Given the description of an element on the screen output the (x, y) to click on. 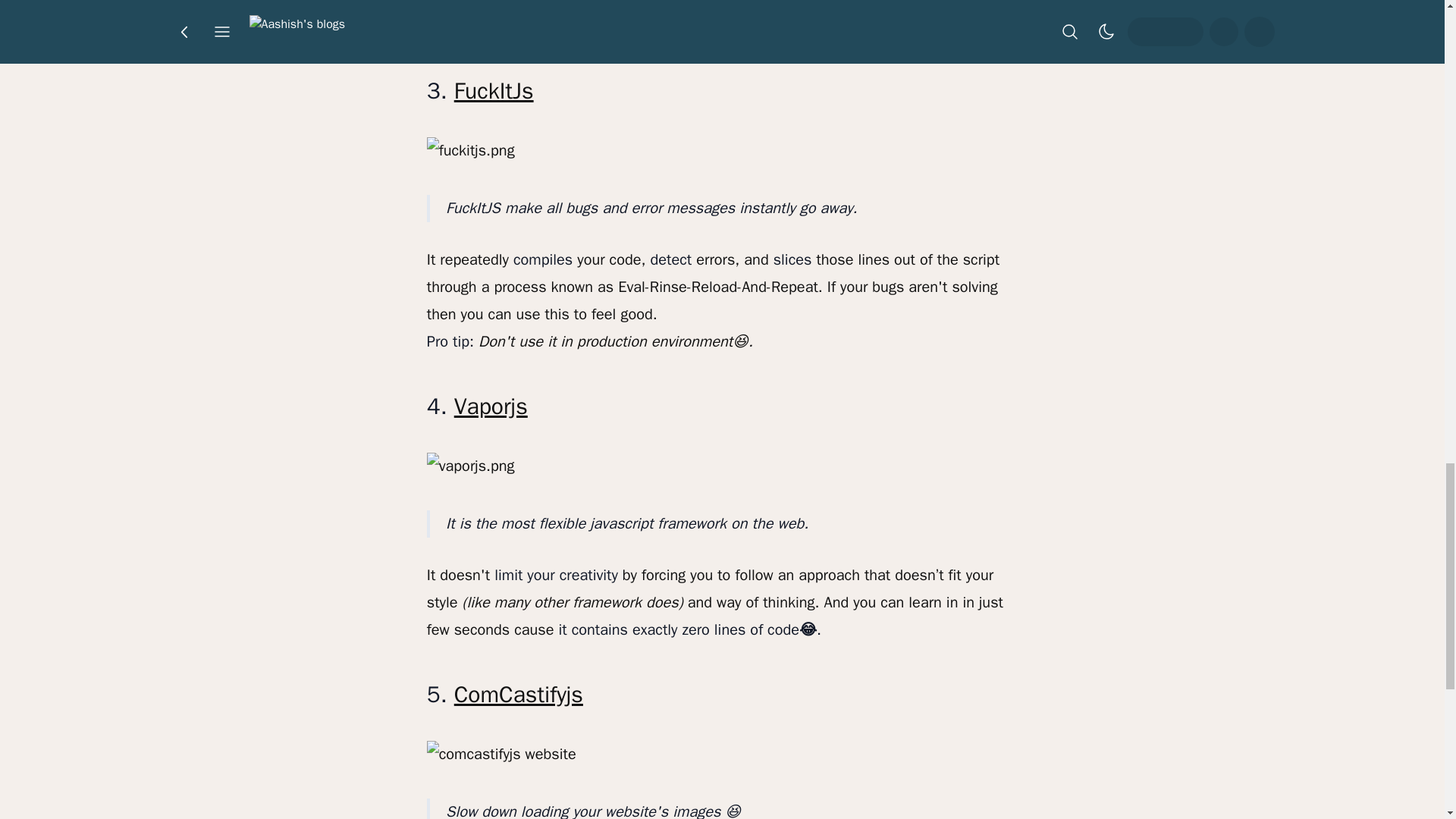
ComCastifyjs (518, 694)
Vaporjs (490, 406)
FuckItJs (494, 90)
